Given the description of an element on the screen output the (x, y) to click on. 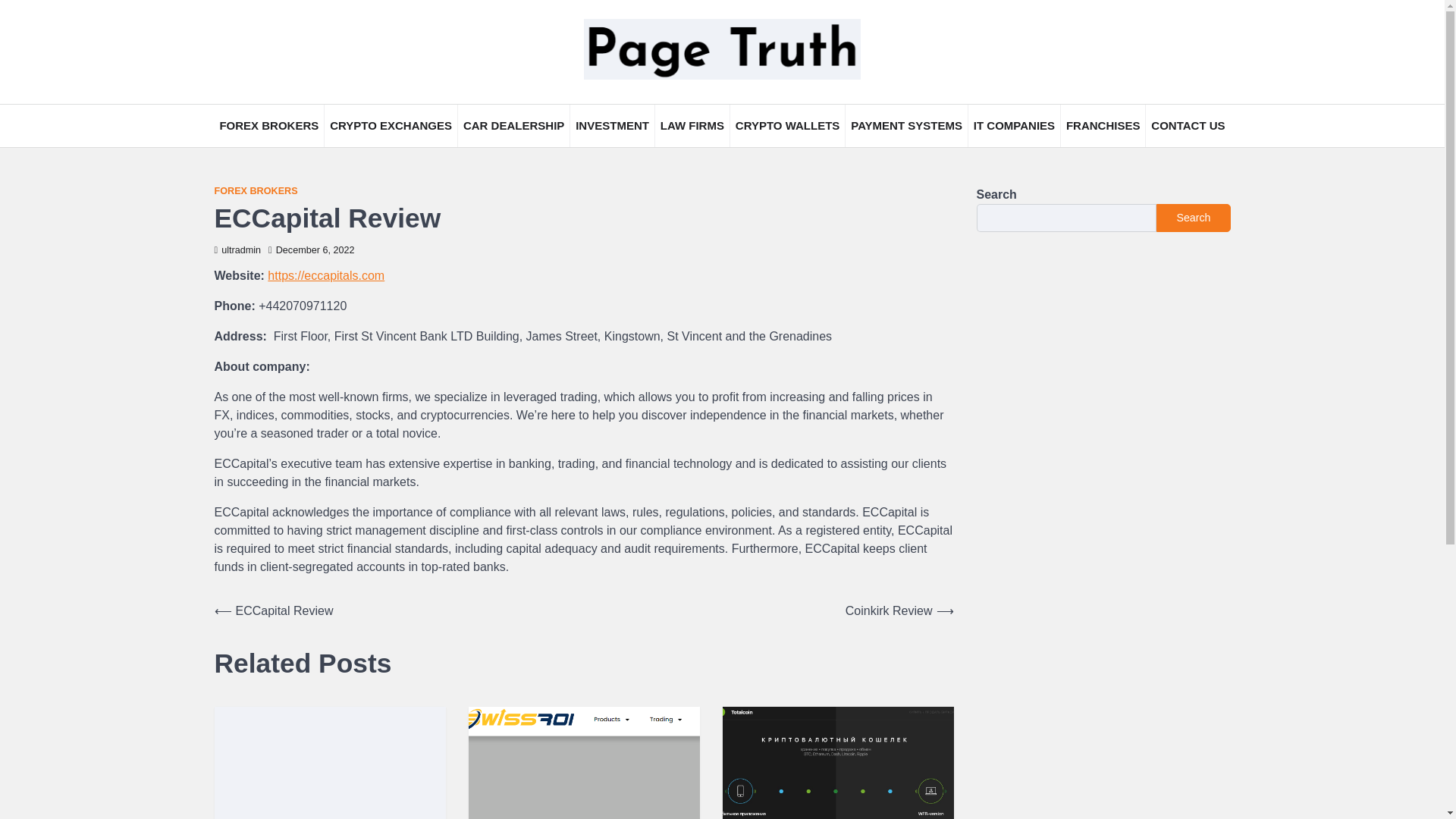
December 6, 2022 (311, 249)
CRYPTO EXCHANGES (390, 126)
CRYPTO WALLETS (787, 126)
CAR DEALERSHIP (513, 126)
Search (1193, 216)
PAYMENT SYSTEMS (906, 126)
ultradmin (237, 249)
FRANCHISES (1102, 126)
FOREX BROKERS (255, 191)
FOREX BROKERS (268, 126)
INVESTMENT (611, 126)
LAW FIRMS (692, 126)
IT COMPANIES (1013, 126)
CONTACT US (1187, 126)
